Given the description of an element on the screen output the (x, y) to click on. 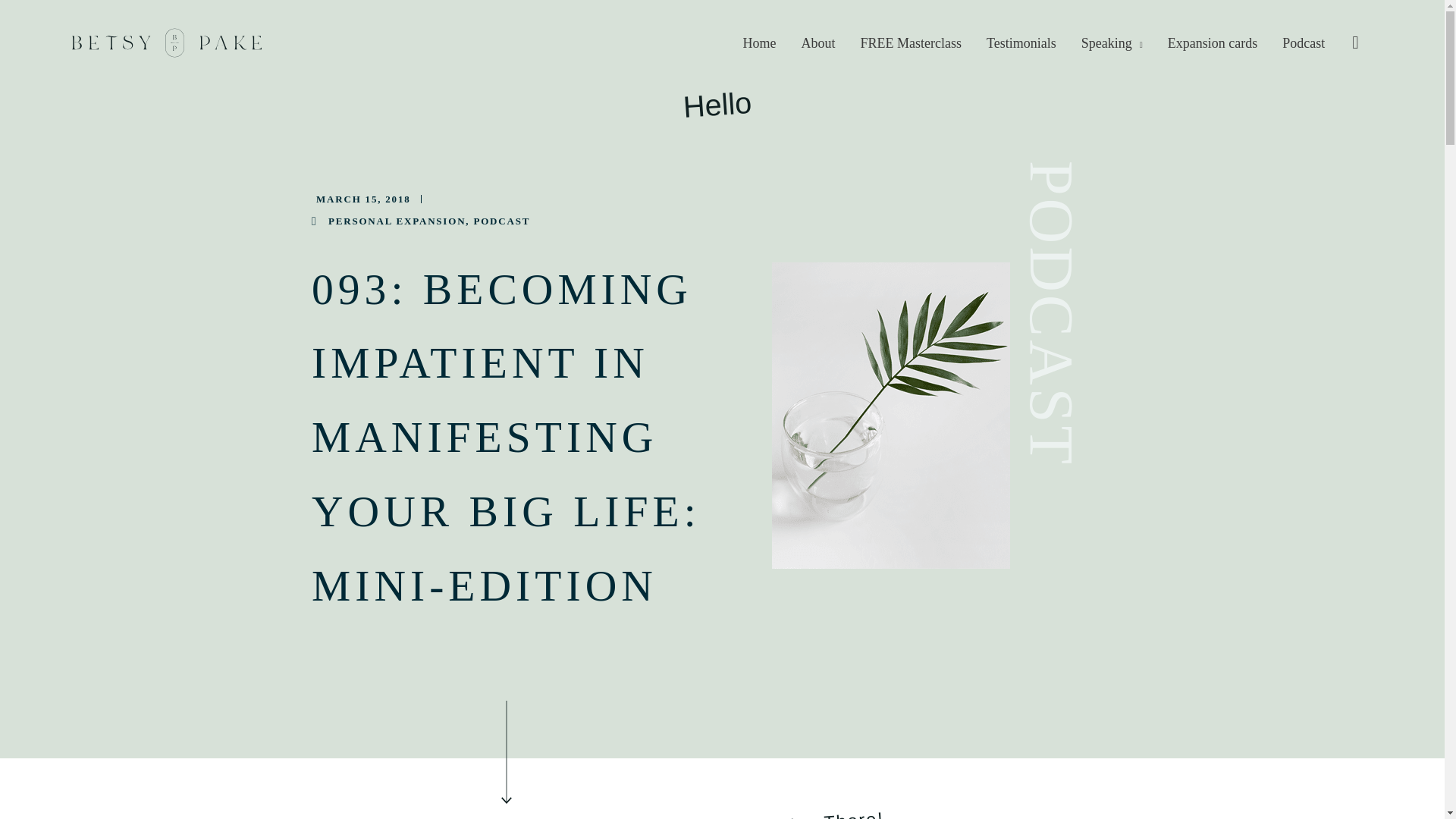
Speaking (1113, 42)
Podcast (1304, 42)
MARCH 15, 2018 (360, 199)
PODCAST (501, 220)
Testimonials (1022, 42)
PERSONAL EXPANSION (397, 220)
FREE Masterclass (911, 42)
About (819, 42)
Expansion cards (1213, 42)
Home (761, 42)
